Given the description of an element on the screen output the (x, y) to click on. 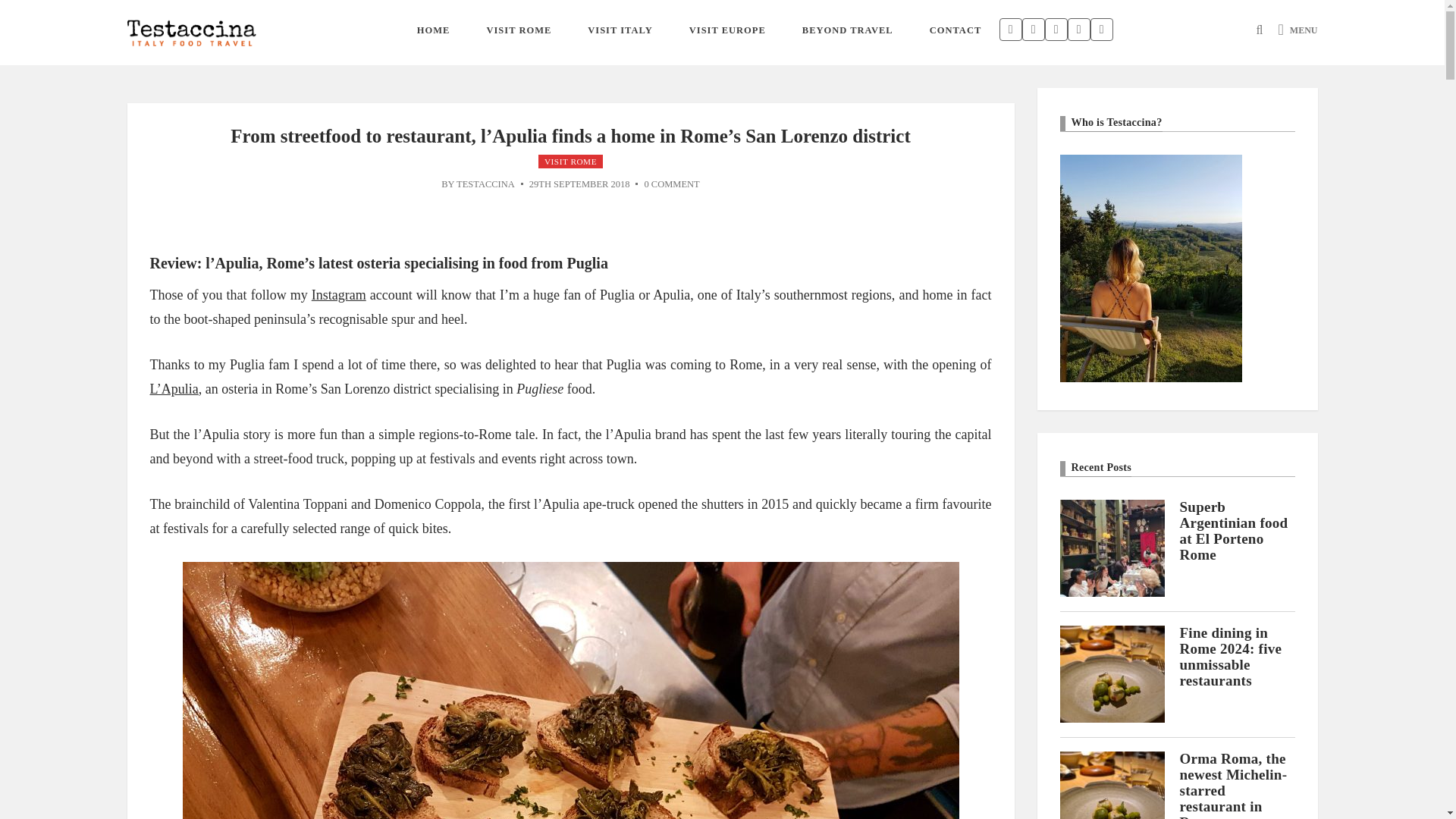
VISIT EUROPE (727, 30)
VISIT ROME (518, 30)
Superb Argentinian food at El Porteno Rome (1233, 530)
Fine dining in Rome 2024: five unmissable restaurants (1230, 656)
Orma Roma, the newest Michelin-starred restaurant in Rome (1233, 785)
BEYOND TRAVEL (847, 30)
VISIT ITALY (619, 30)
Fine dining in Rome 2024: five unmissable restaurants (1230, 656)
Instagram (338, 294)
VISIT ROME (570, 161)
Superb Argentinian food at El Porteno Rome (1233, 530)
Posts by Testaccina (486, 184)
CONTACT (955, 30)
Superb Argentinian food at El Porteno Rome (1111, 546)
0 COMMENT (670, 184)
